Given the description of an element on the screen output the (x, y) to click on. 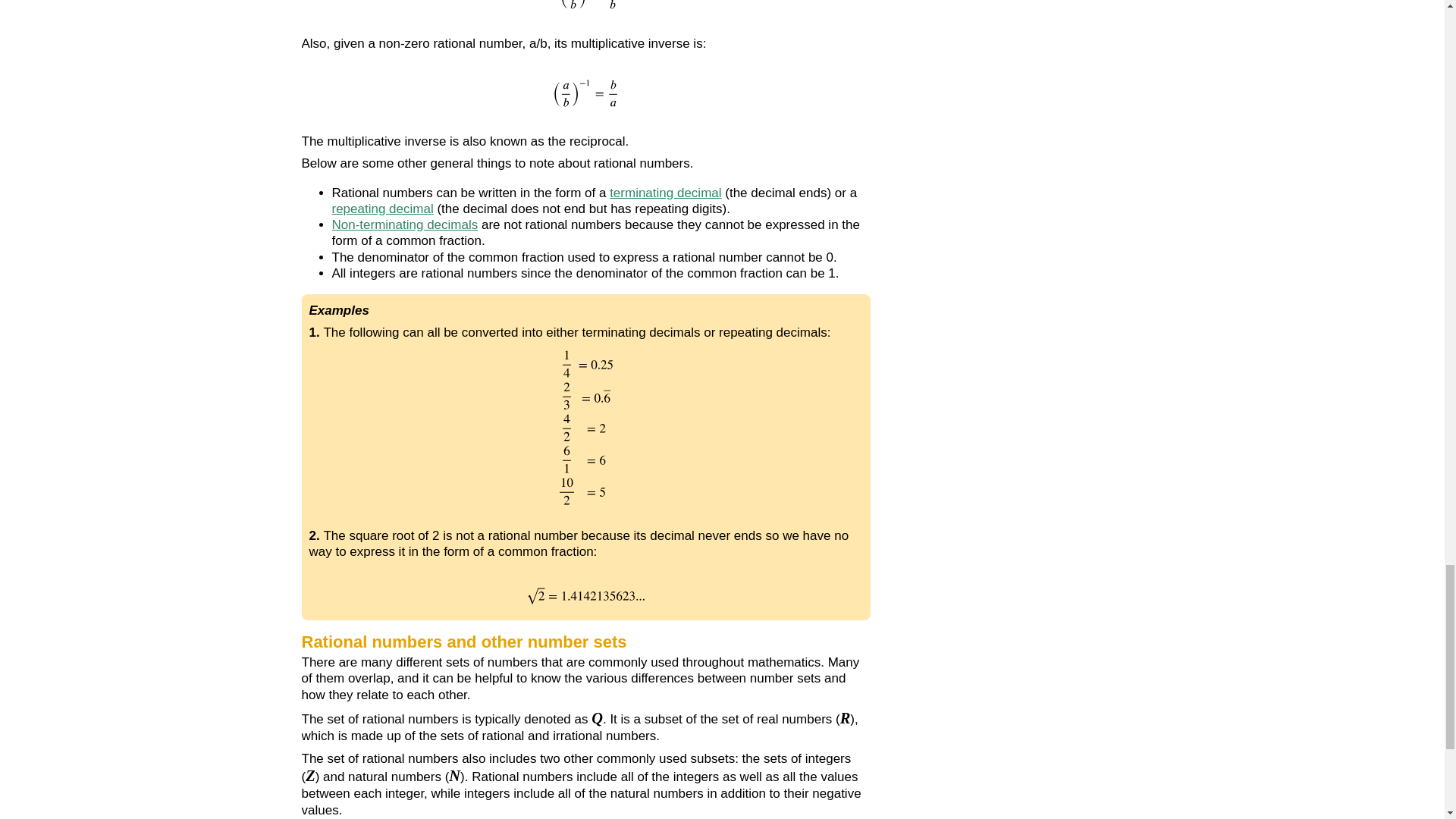
repeating decimal (382, 208)
terminating decimal (665, 192)
Non-terminating decimals (405, 224)
